Given the description of an element on the screen output the (x, y) to click on. 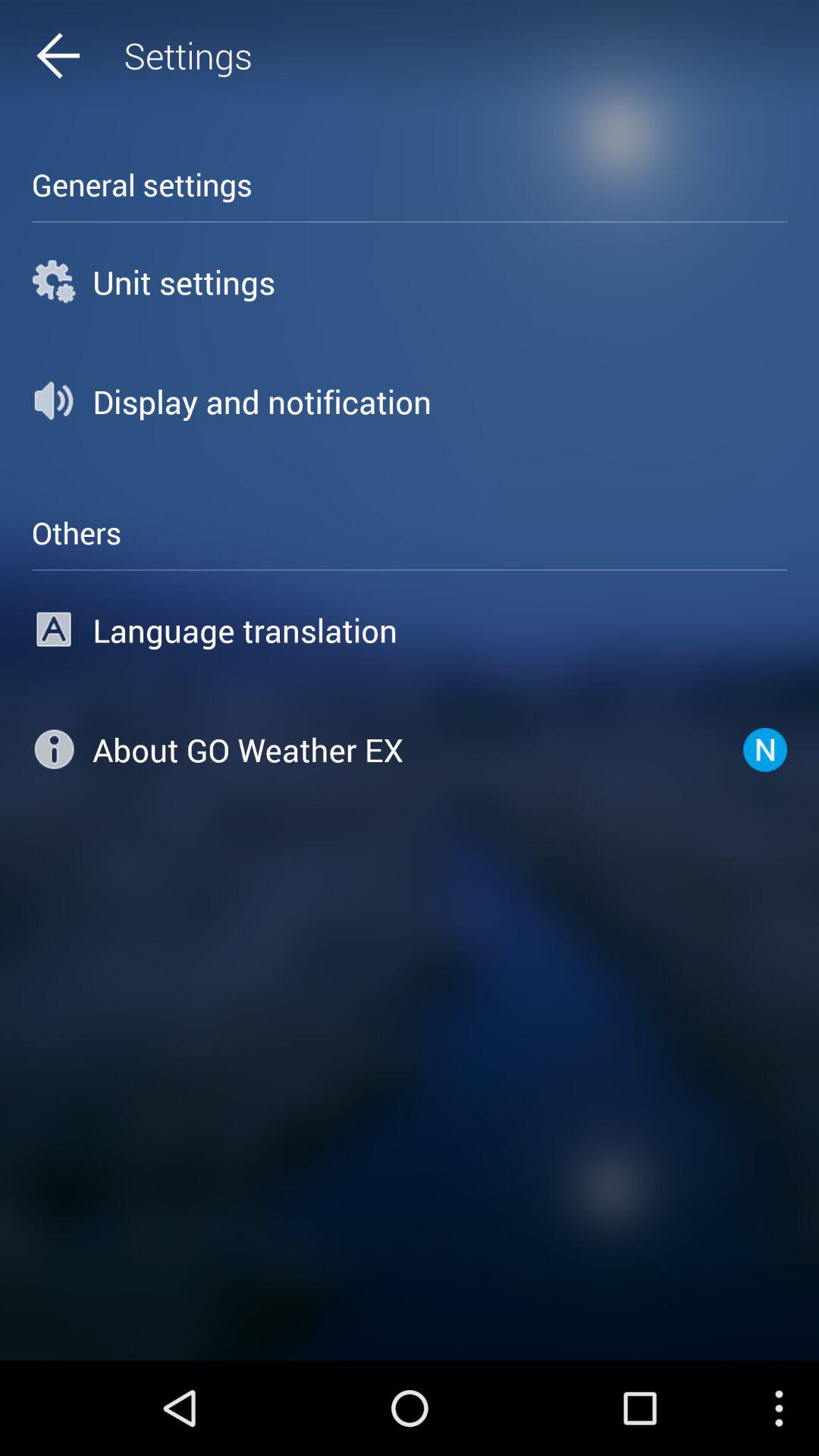
jump to the display and notification (409, 401)
